Given the description of an element on the screen output the (x, y) to click on. 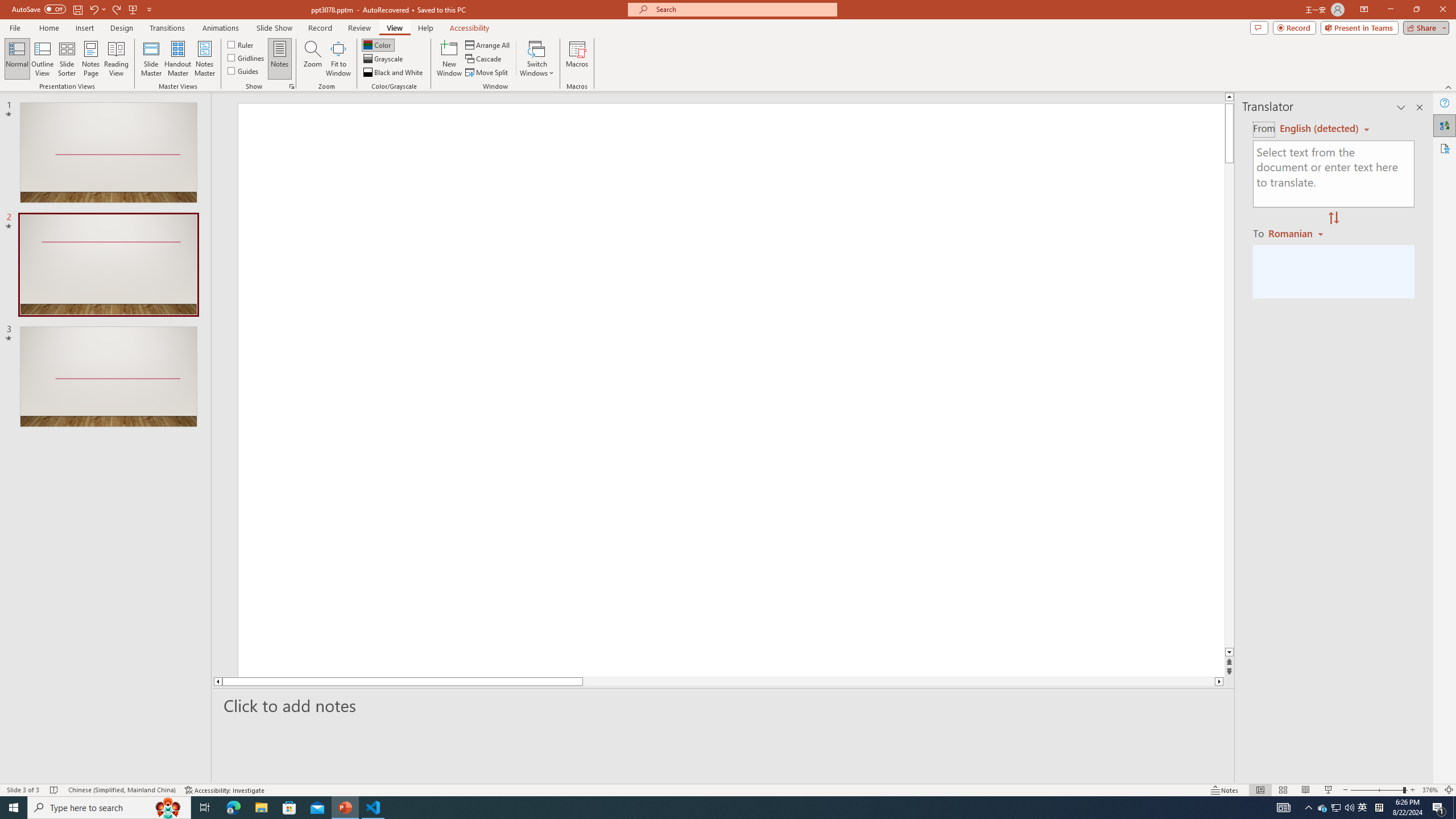
Outline View (42, 58)
Cascade (484, 58)
Zoom... (312, 58)
Notes Page (90, 58)
Black and White (393, 72)
